Given the description of an element on the screen output the (x, y) to click on. 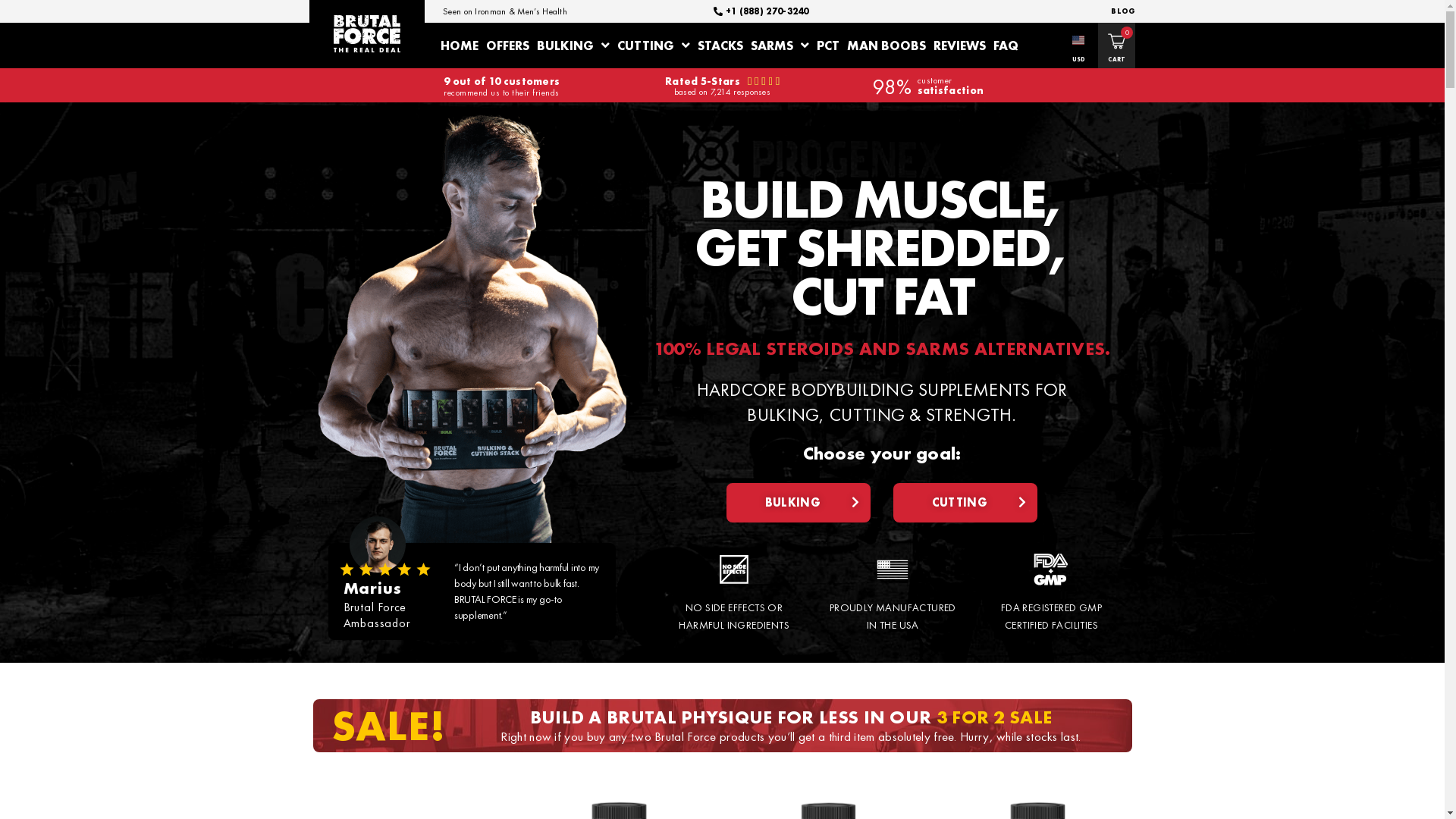
CUTTING Element type: text (965, 502)
OFFERS Element type: text (507, 45)
SARMS Element type: text (779, 45)
HOME Element type: text (459, 45)
+1 (888) 270-3240 Element type: text (761, 10)
CUTTING Element type: text (653, 45)
BULKING Element type: text (573, 45)
FAQ Element type: text (1005, 45)
PCT Element type: text (827, 45)
BLOG Element type: text (1118, 11)
MAN BOOBS Element type: text (886, 45)
BULKING Element type: text (798, 502)
STACKS Element type: text (719, 45)
REVIEWS Element type: text (959, 45)
